Given the description of an element on the screen output the (x, y) to click on. 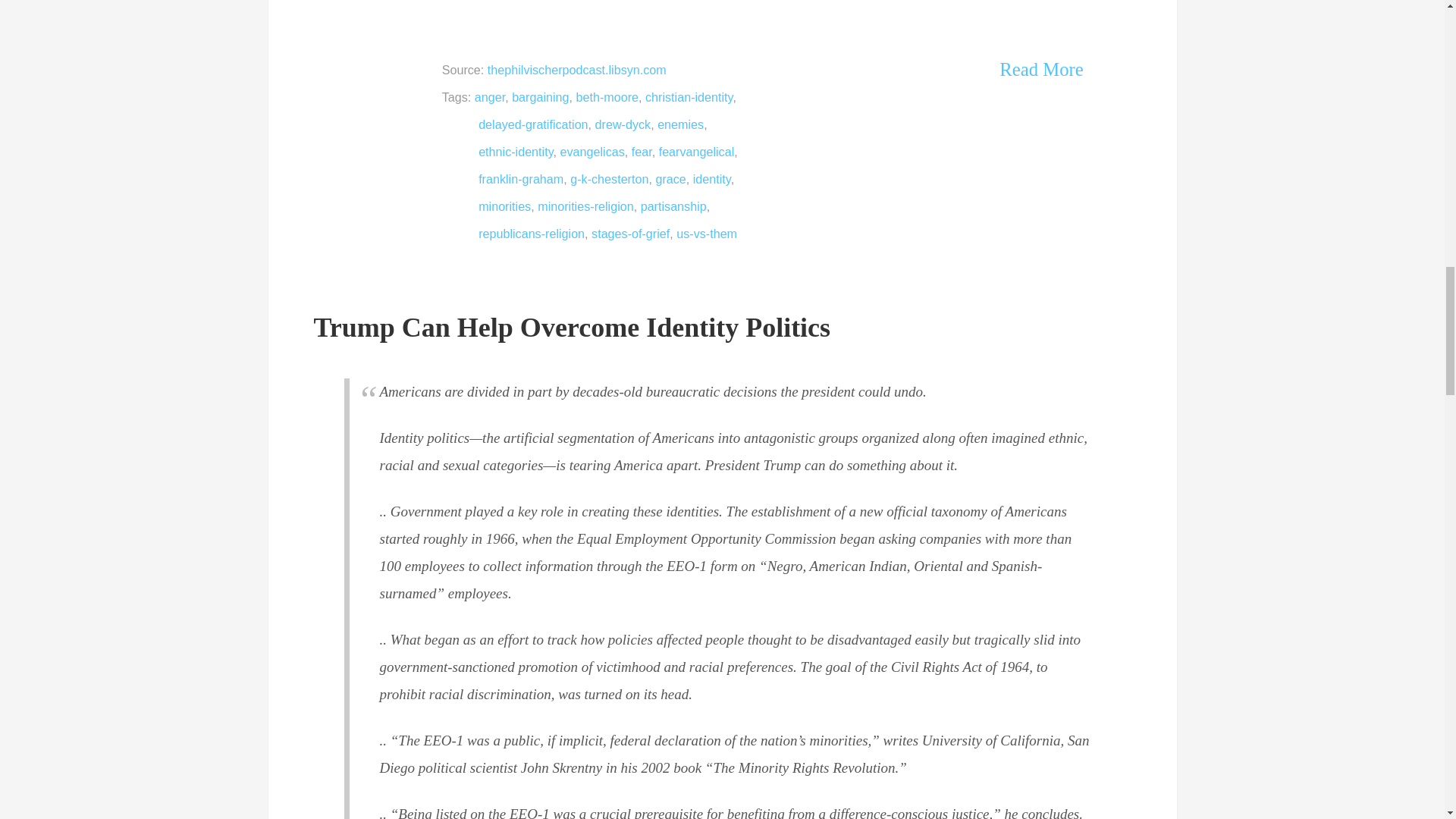
christian-identity (688, 97)
bargaining (540, 97)
fear (641, 151)
delayed-gratification (533, 124)
drew-dyck (622, 124)
minorities-religion (585, 205)
grace (670, 178)
thephilvischerpodcast.libsyn.com (576, 69)
ethnic-identity (516, 151)
g-k-chesterton (608, 178)
anger (489, 97)
fearvangelical (697, 151)
republicans-religion (532, 233)
enemies (680, 124)
franklin-graham (521, 178)
